Given the description of an element on the screen output the (x, y) to click on. 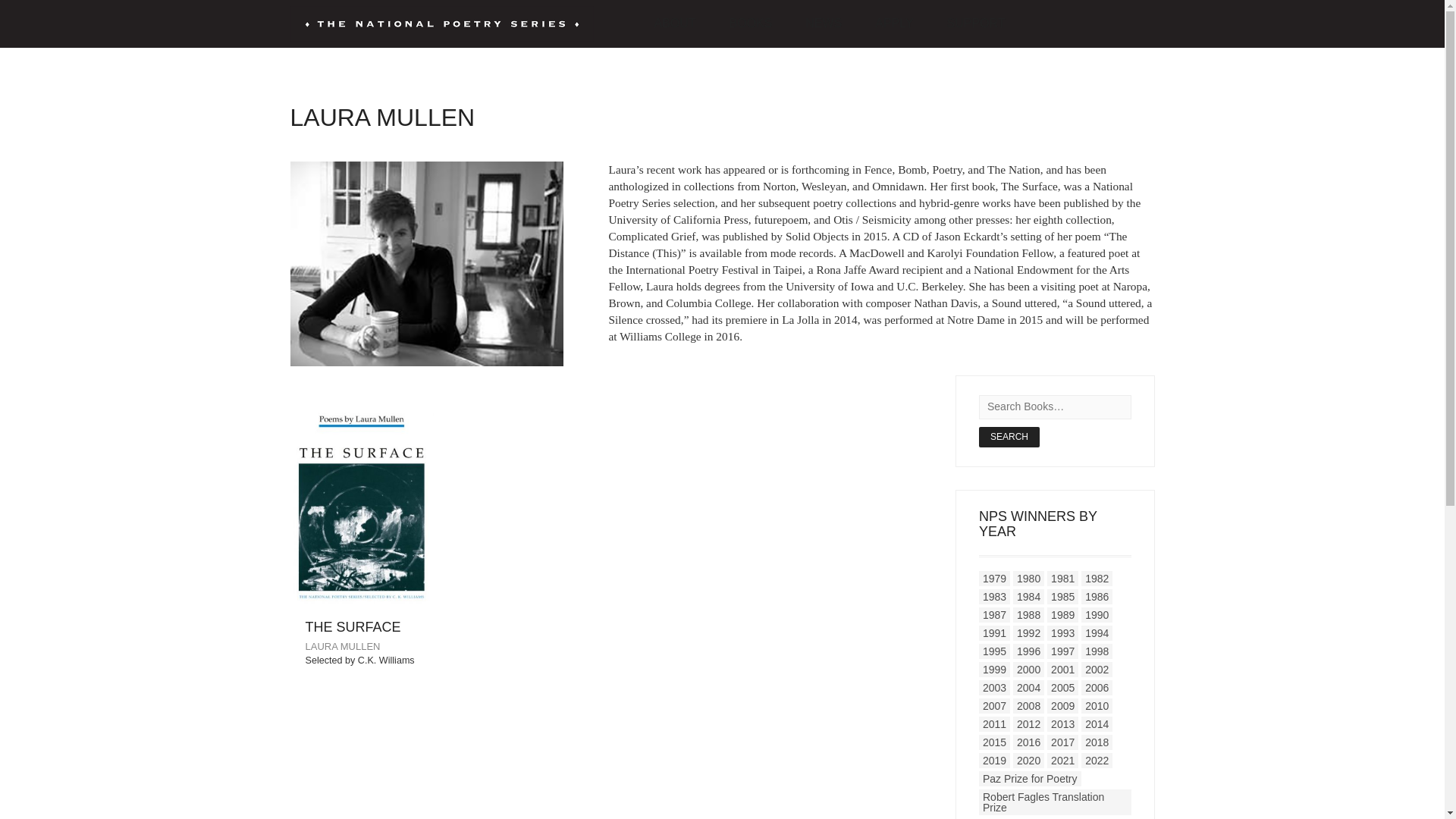
APPLY (894, 23)
BOOKS (750, 23)
NEWS (823, 23)
Search for: (1054, 406)
1980 (1028, 578)
ABOUT (674, 23)
1979 (994, 578)
Search (1008, 436)
SUPPORT (975, 23)
1981 (1062, 578)
